Given the description of an element on the screen output the (x, y) to click on. 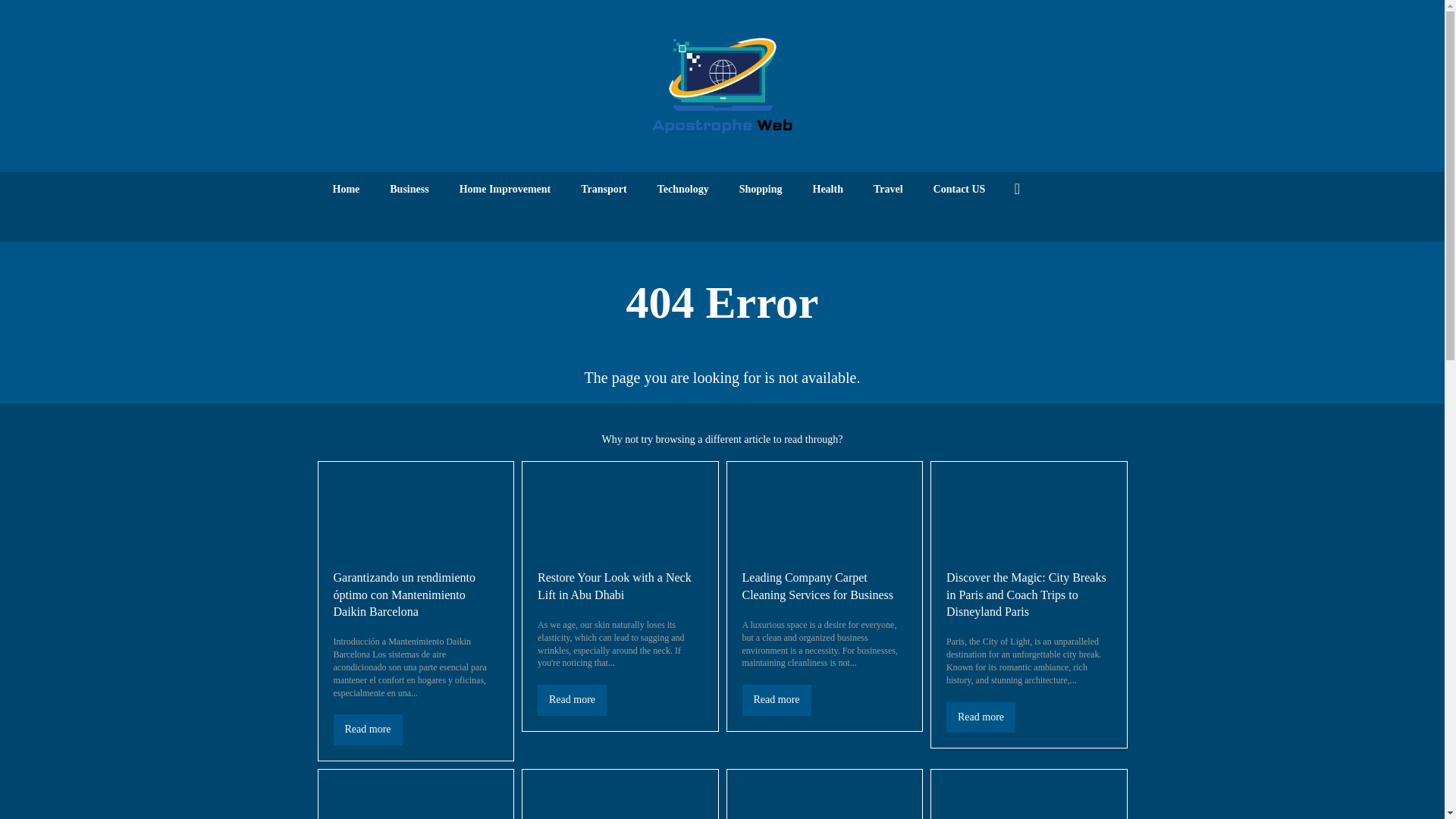
Transport (604, 189)
Read more (368, 729)
Technology (682, 189)
Business (409, 189)
Travel (888, 189)
Shopping (760, 189)
Read more (368, 729)
Leading Company Carpet Cleaning Services for Business (817, 585)
